Given the description of an element on the screen output the (x, y) to click on. 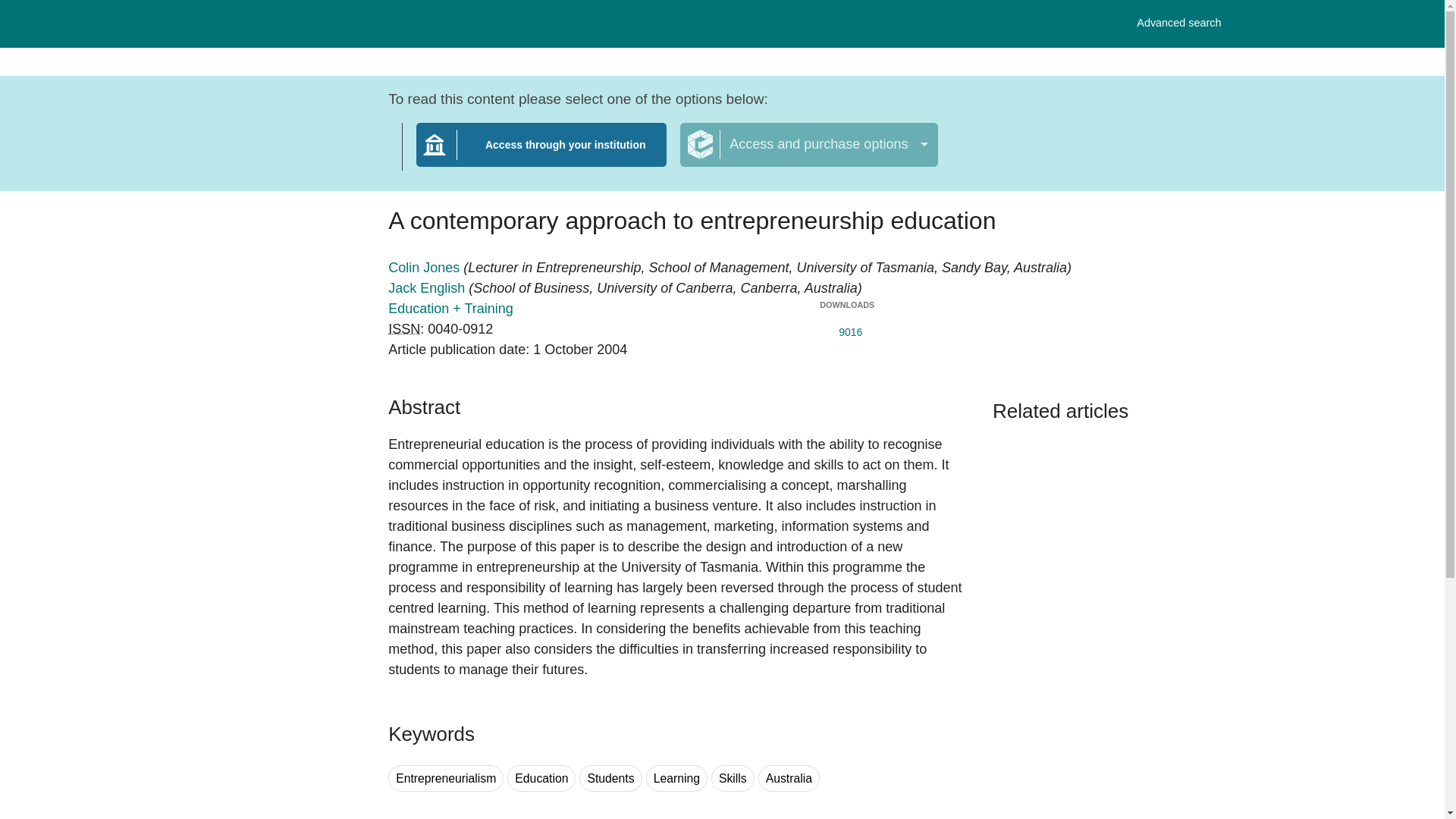
Jack English (428, 287)
Skills (732, 777)
Entrepreneurialism (445, 777)
Access and purchase options (808, 144)
Search for keyword Australia (788, 777)
Colin Jones (425, 267)
International Standard Serial Number. (404, 328)
Search for keyword Education (540, 777)
Search for keyword Learning (676, 777)
Australia (788, 777)
